Given the description of an element on the screen output the (x, y) to click on. 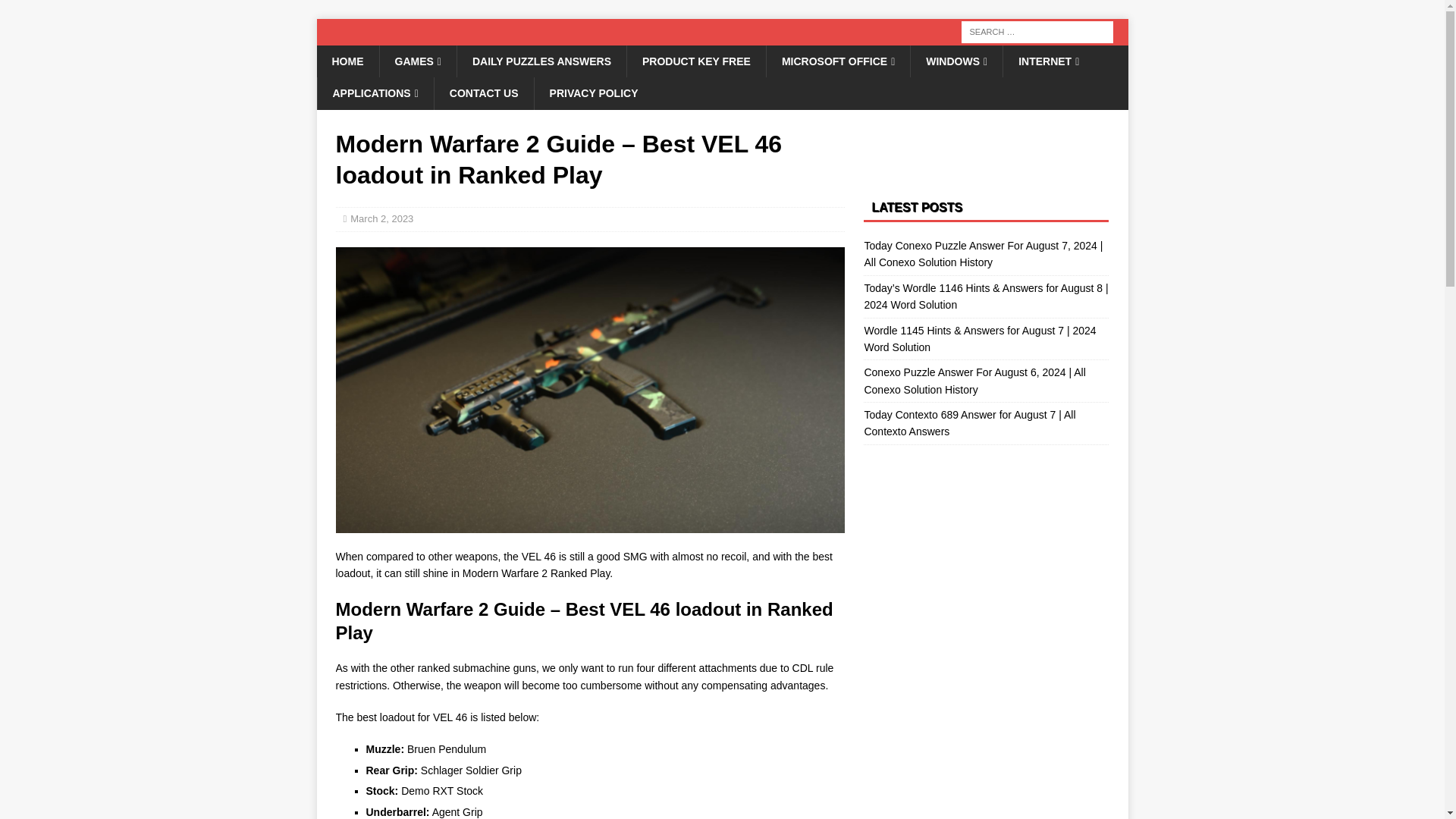
Search (56, 11)
